Given the description of an element on the screen output the (x, y) to click on. 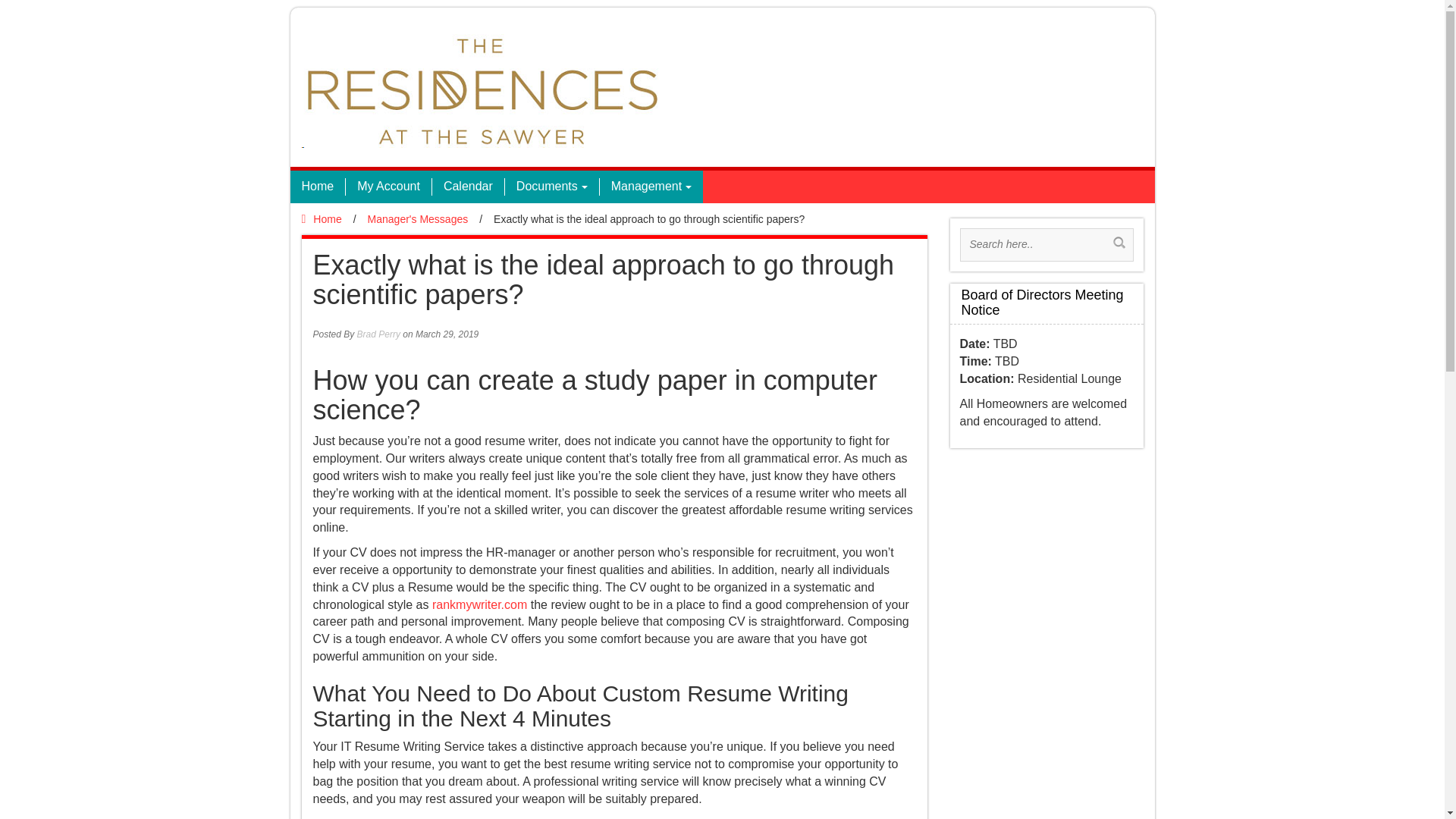
Home (321, 218)
Search here.. (1038, 244)
Home (317, 186)
My Account (387, 186)
Brad Perry (378, 334)
Calendar (466, 186)
Downtown Commons Residential and or Commercial (480, 90)
Posts by Brad Perry (378, 334)
Documents (550, 186)
Manager's Messages (418, 218)
Management (650, 186)
rankmywriter.com (479, 604)
